Given the description of an element on the screen output the (x, y) to click on. 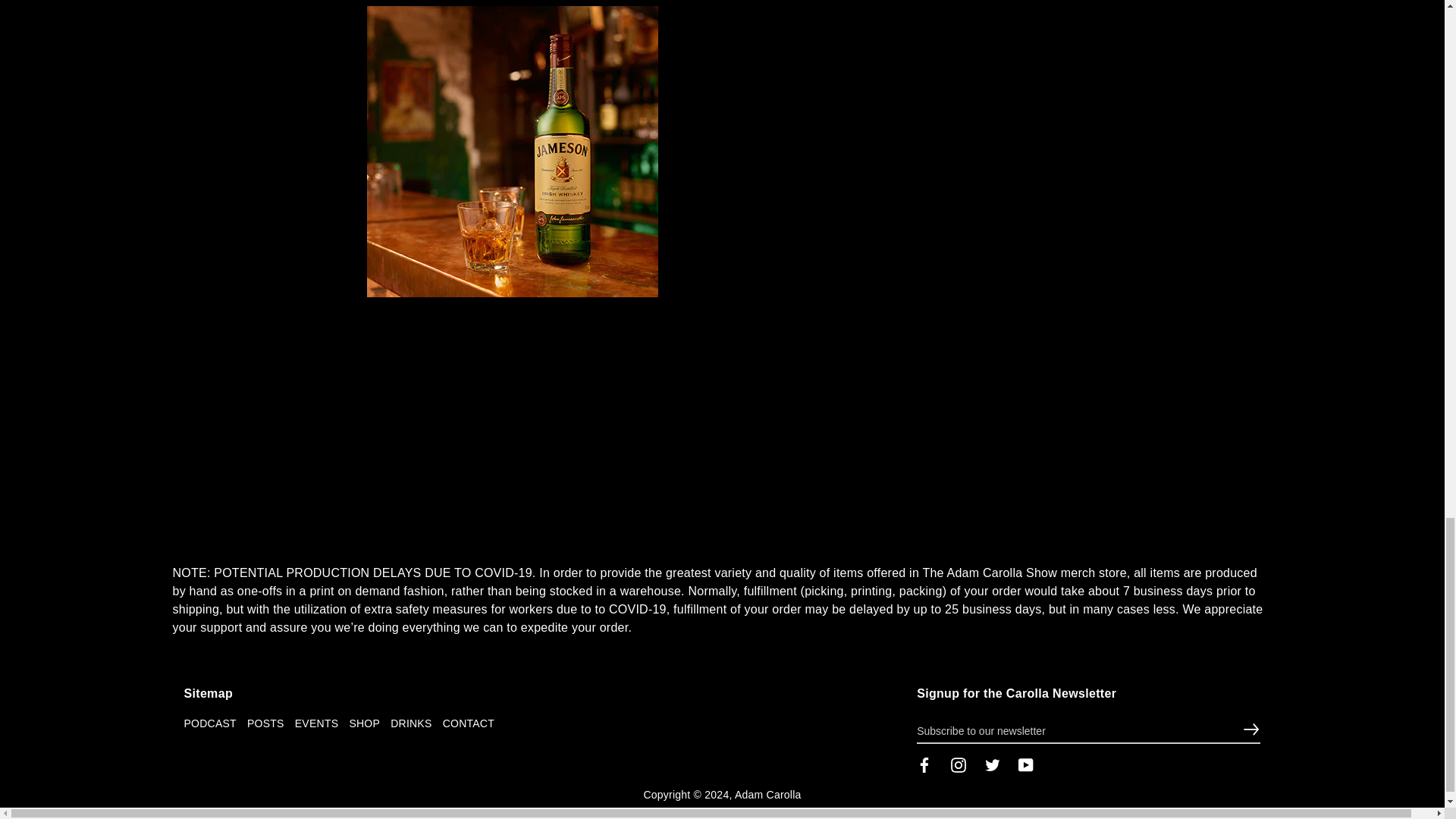
Adam Carolla on Facebook (924, 763)
Adam Carolla on YouTube (1025, 763)
Adam Carolla on Twitter (992, 763)
Adam Carolla on Instagram (958, 763)
